Given the description of an element on the screen output the (x, y) to click on. 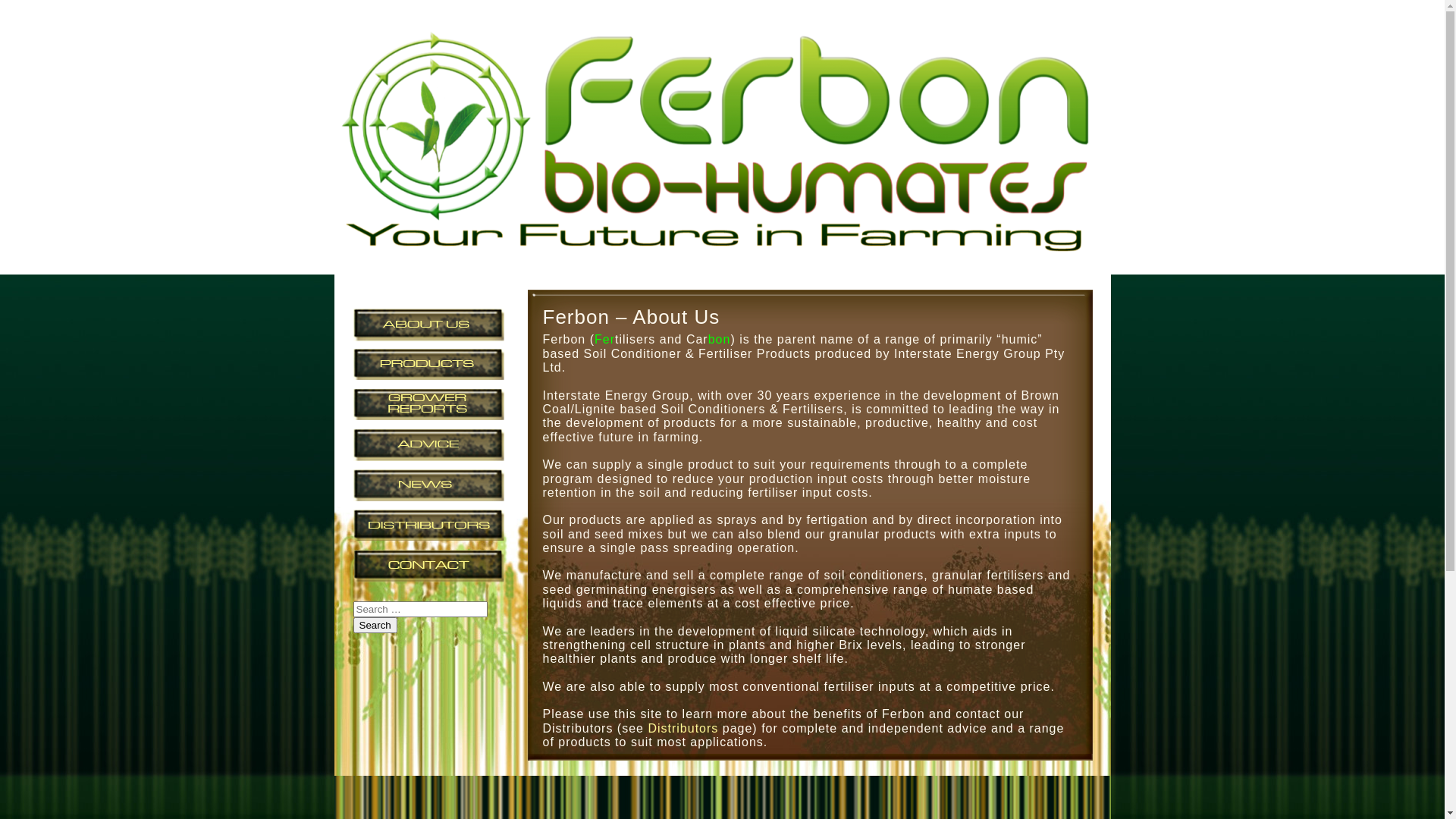
Distributors Element type: text (682, 727)
Search Element type: text (375, 625)
